Given the description of an element on the screen output the (x, y) to click on. 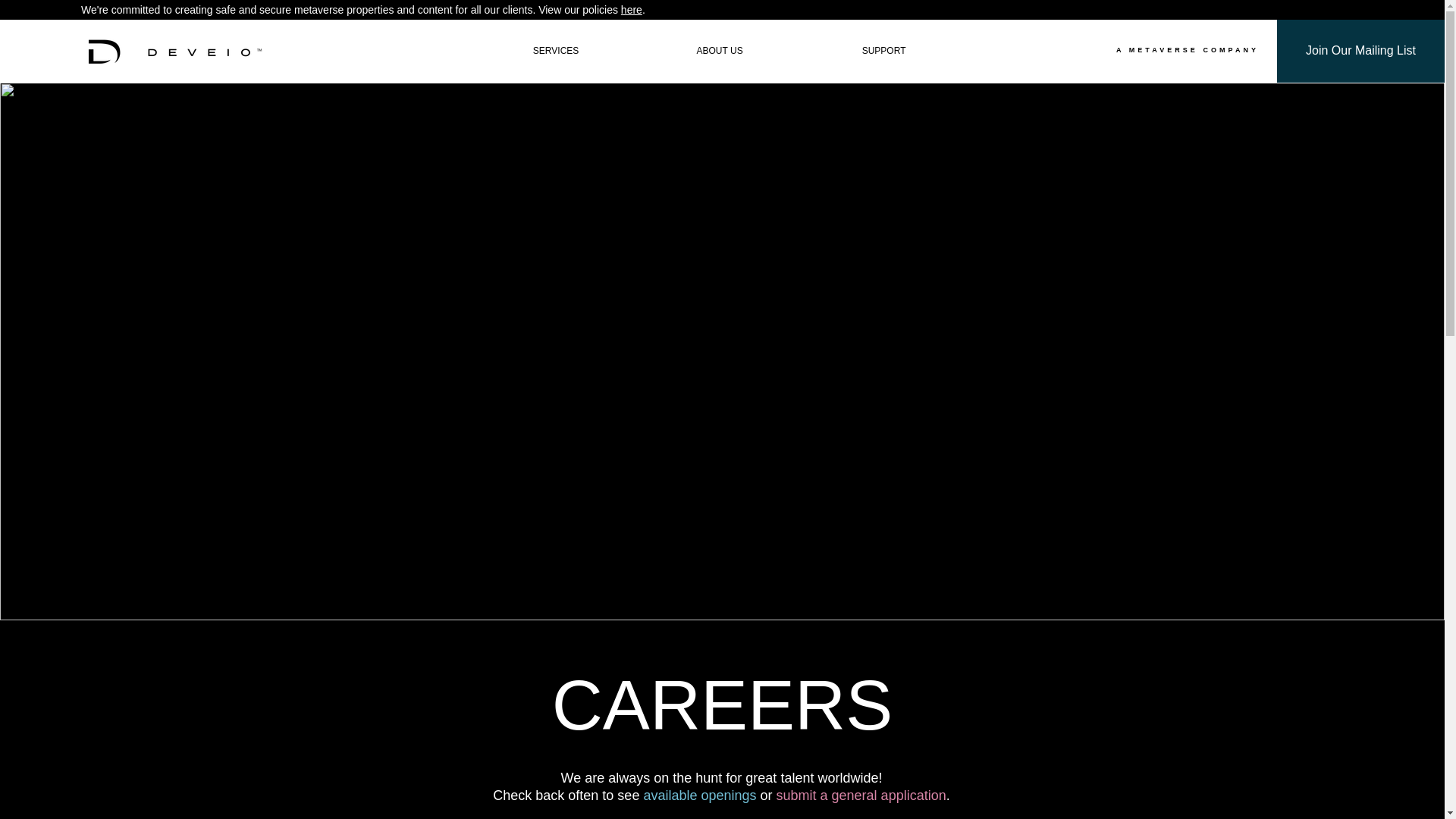
ABOUT US (719, 50)
SUPPORT (883, 50)
here (631, 9)
SERVICES (555, 50)
